Given the description of an element on the screen output the (x, y) to click on. 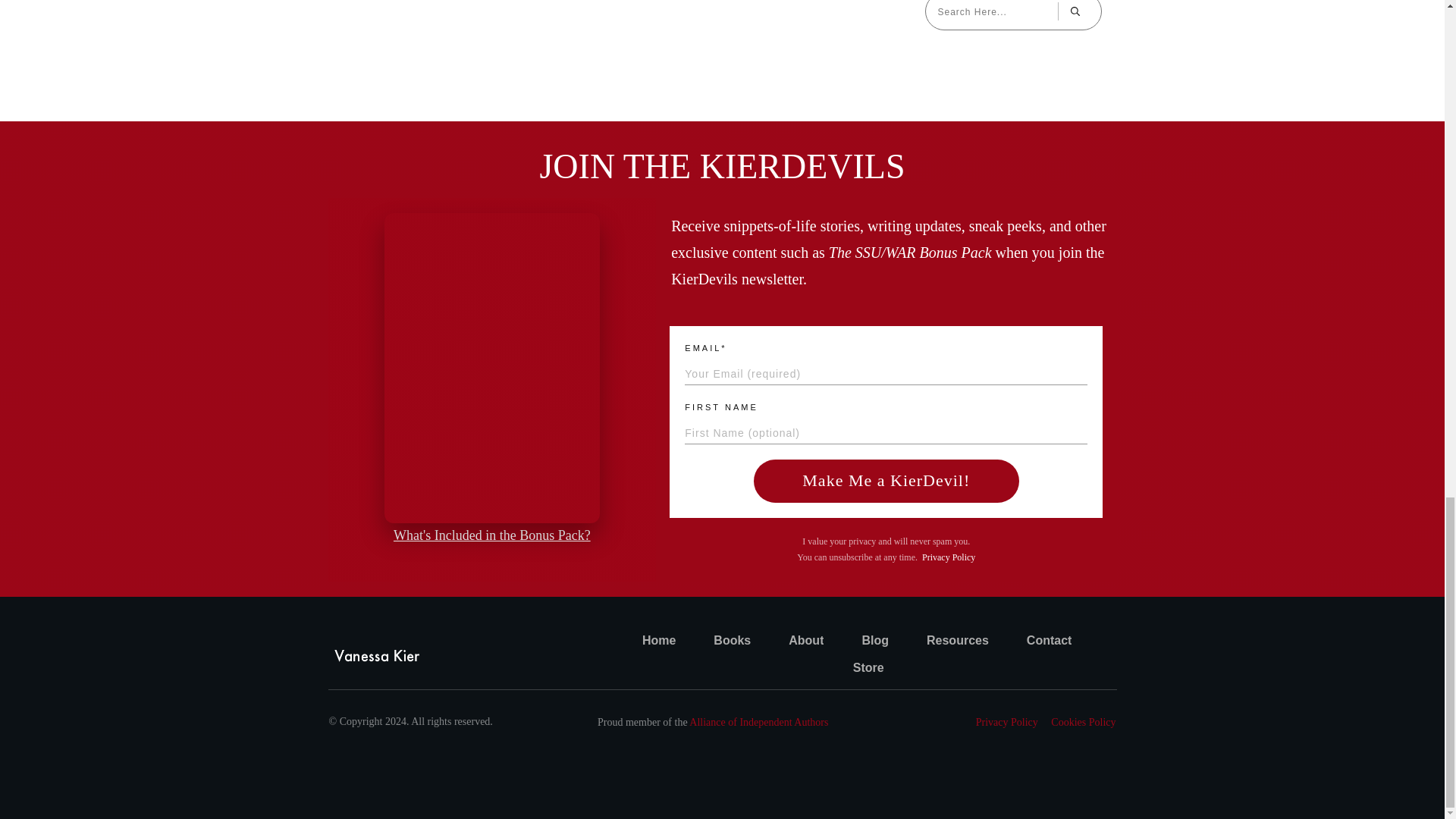
Make Me a KierDevil! (886, 480)
Privacy Policy (948, 557)
Home (658, 640)
What's Included in the Bonus Pack? (492, 534)
